Given the description of an element on the screen output the (x, y) to click on. 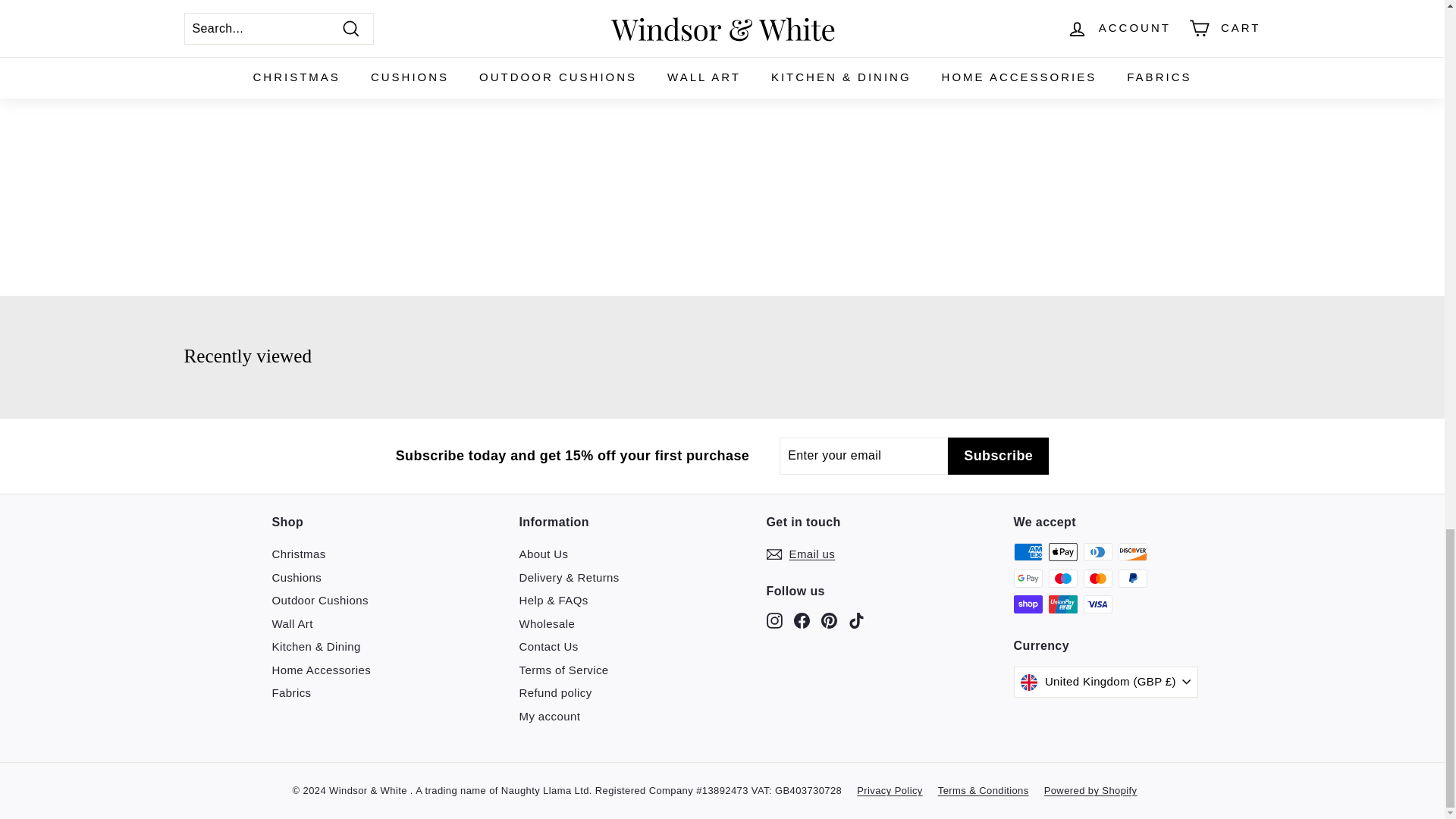
American Express (1027, 551)
Diners Club (1097, 551)
Apple Pay (1062, 551)
